Given the description of an element on the screen output the (x, y) to click on. 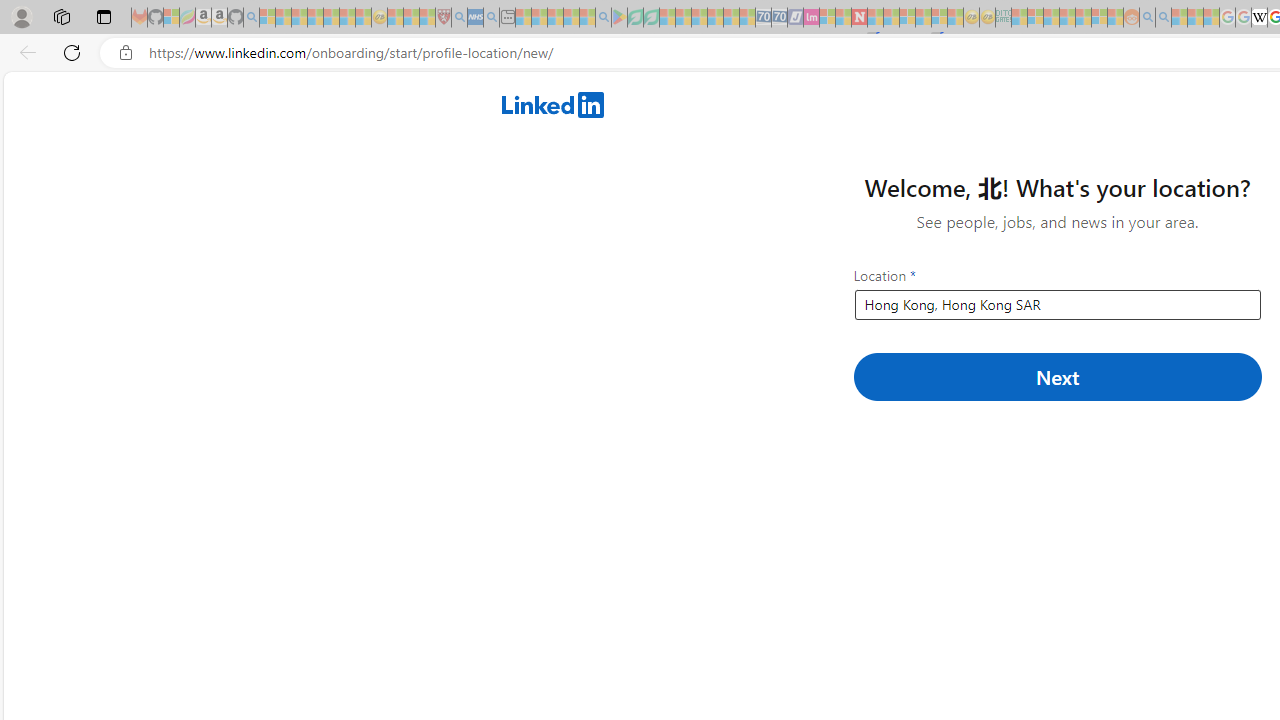
The Weather Channel - MSN - Sleeping (299, 17)
Microsoft-Report a Concern to Bing - Sleeping (171, 17)
Robert H. Shmerling, MD - Harvard Health - Sleeping (443, 17)
Target page - Wikipedia - Sleeping (1259, 17)
Cheap Car Rentals - Save70.com - Sleeping (763, 17)
Trusted Community Engagement and Contributions | Guidelines (875, 17)
